Given the description of an element on the screen output the (x, y) to click on. 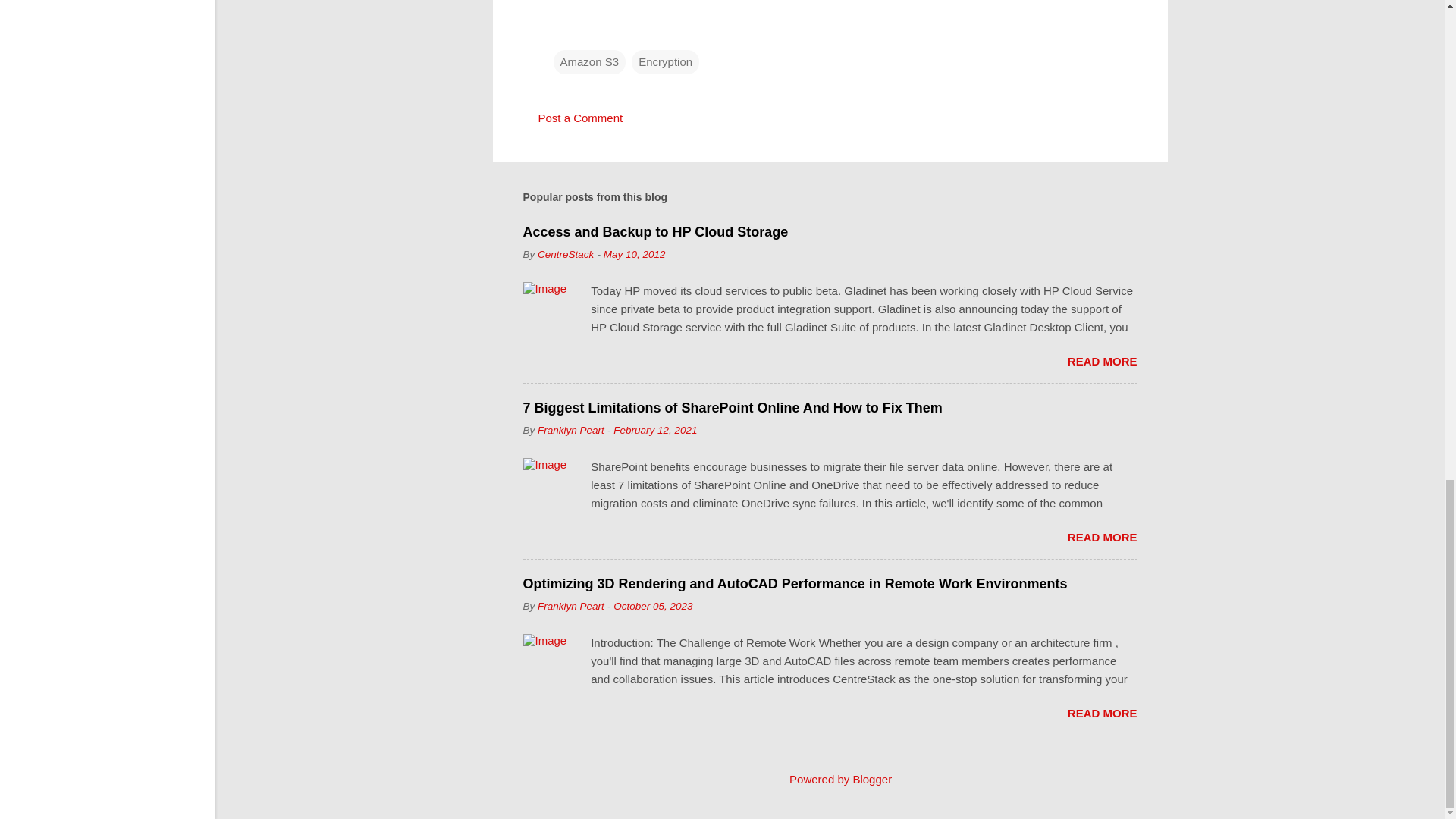
CentreStack (565, 254)
READ MORE (1102, 360)
Amazon S3 (589, 61)
Franklyn Peart (570, 430)
February 12, 2021 (654, 430)
Encryption (664, 61)
Post a Comment (580, 117)
May 10, 2012 (634, 254)
Access and Backup to HP Cloud Storage (655, 231)
